Given the description of an element on the screen output the (x, y) to click on. 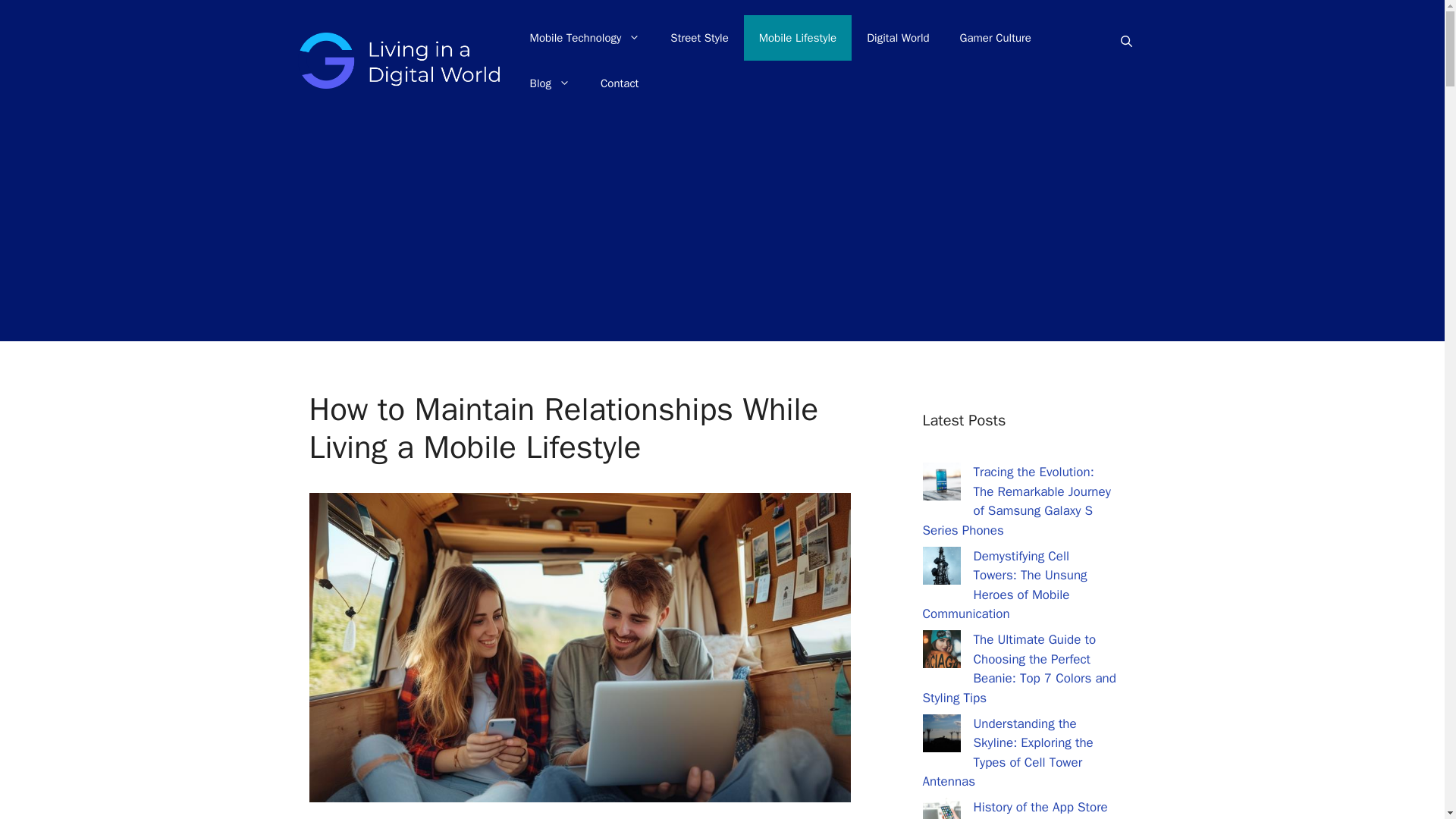
Digital World (897, 37)
Street Style (698, 37)
History of the App Store (1041, 806)
Blog (550, 83)
Gamer Culture (995, 37)
